Given the description of an element on the screen output the (x, y) to click on. 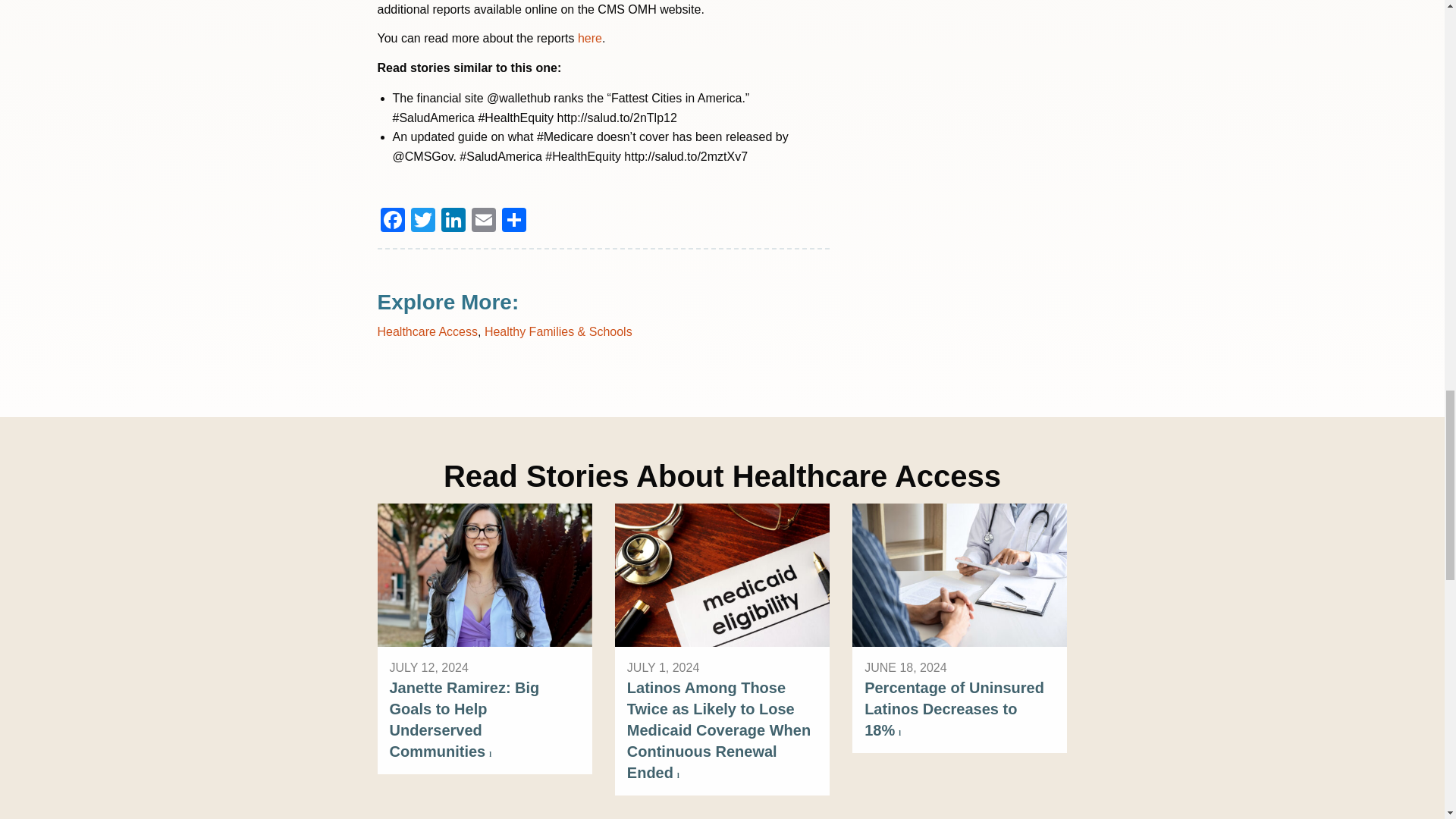
Email (483, 221)
LinkedIn (453, 221)
Email (483, 221)
Facebook (392, 221)
Twitter (422, 221)
Twitter (422, 221)
here (590, 38)
LinkedIn (453, 221)
Facebook (392, 221)
